Given the description of an element on the screen output the (x, y) to click on. 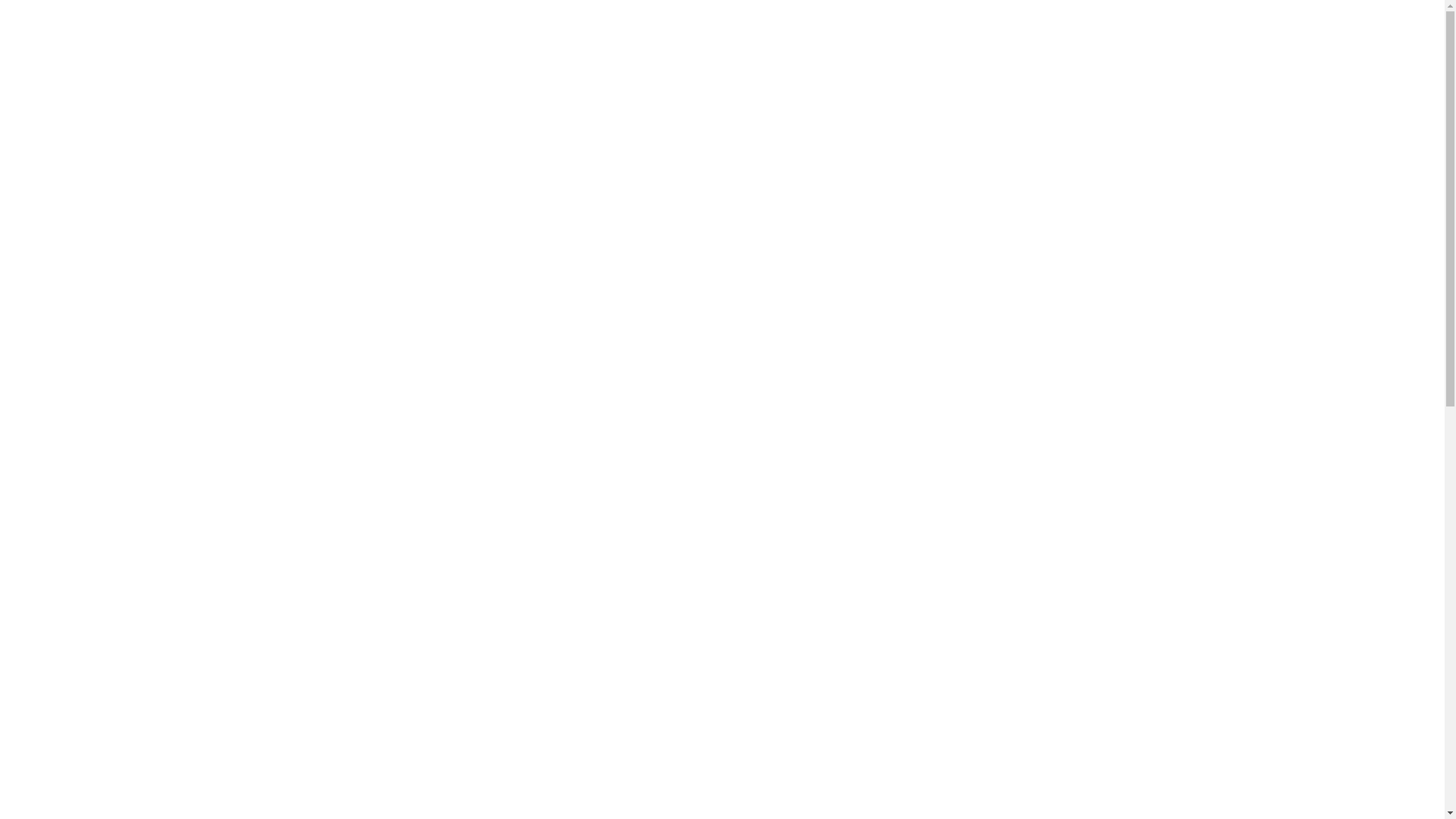
Envoyer Element type: text (1096, 219)
